Given the description of an element on the screen output the (x, y) to click on. 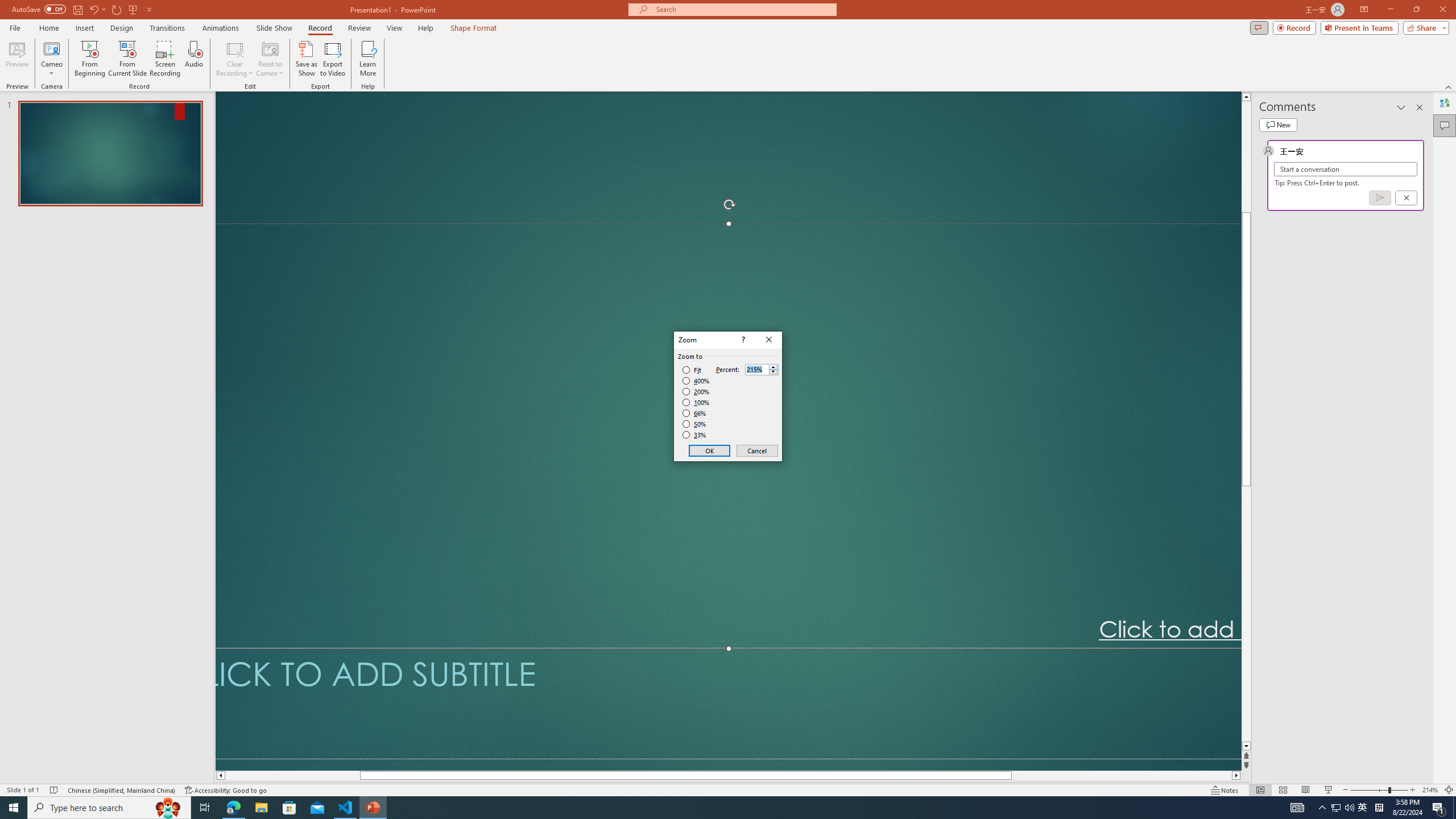
33% (694, 434)
Page up (1245, 156)
200% (696, 391)
Zoom 214% (1430, 790)
